Given the description of an element on the screen output the (x, y) to click on. 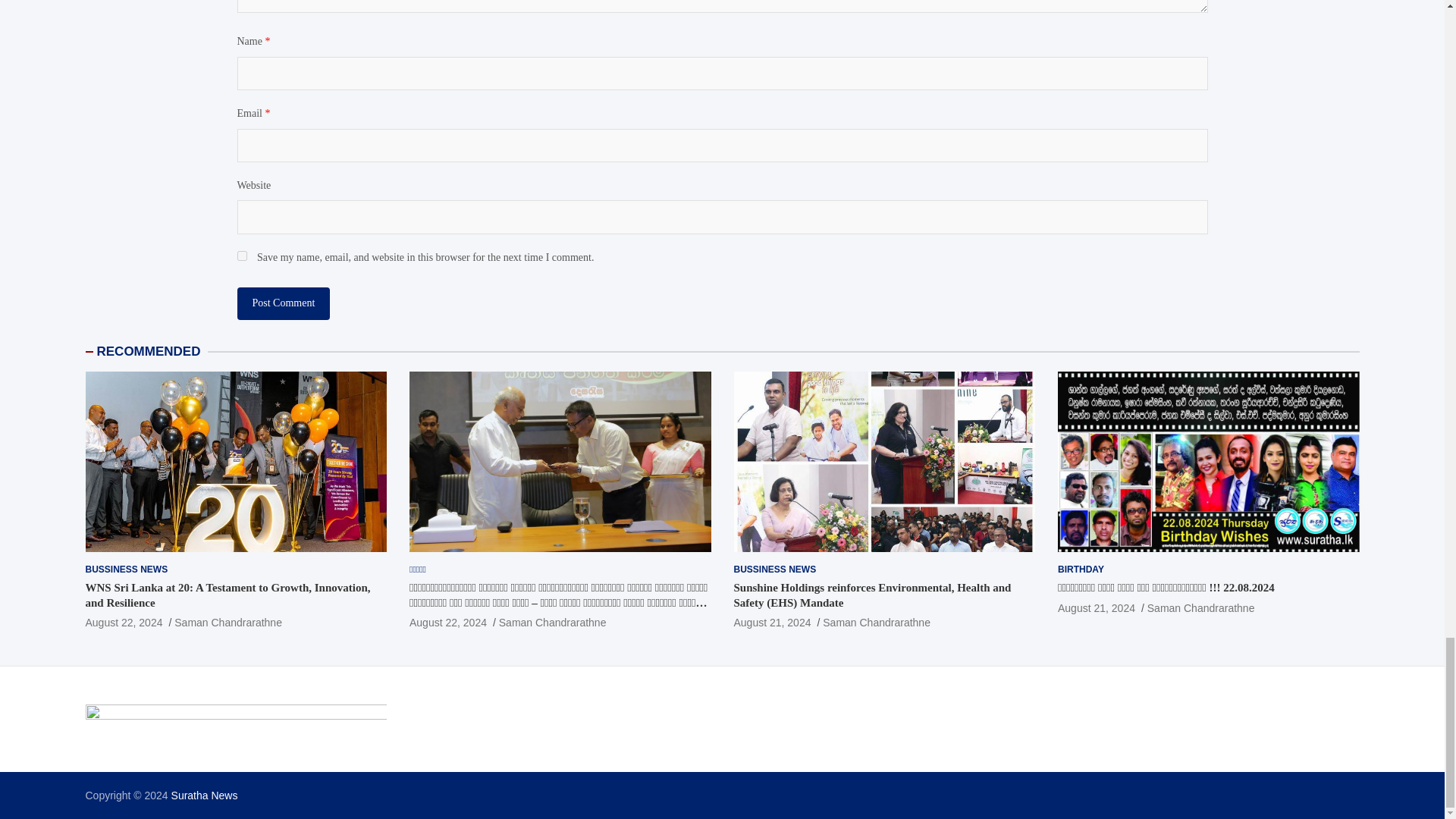
Saman Chandrarathne (876, 622)
BIRTHDAY (1080, 569)
August 21, 2024 (771, 622)
Saman Chandrarathne (228, 622)
RECOMMENDED (148, 350)
Post Comment (282, 303)
Suratha News (204, 795)
yes (240, 255)
